Given the description of an element on the screen output the (x, y) to click on. 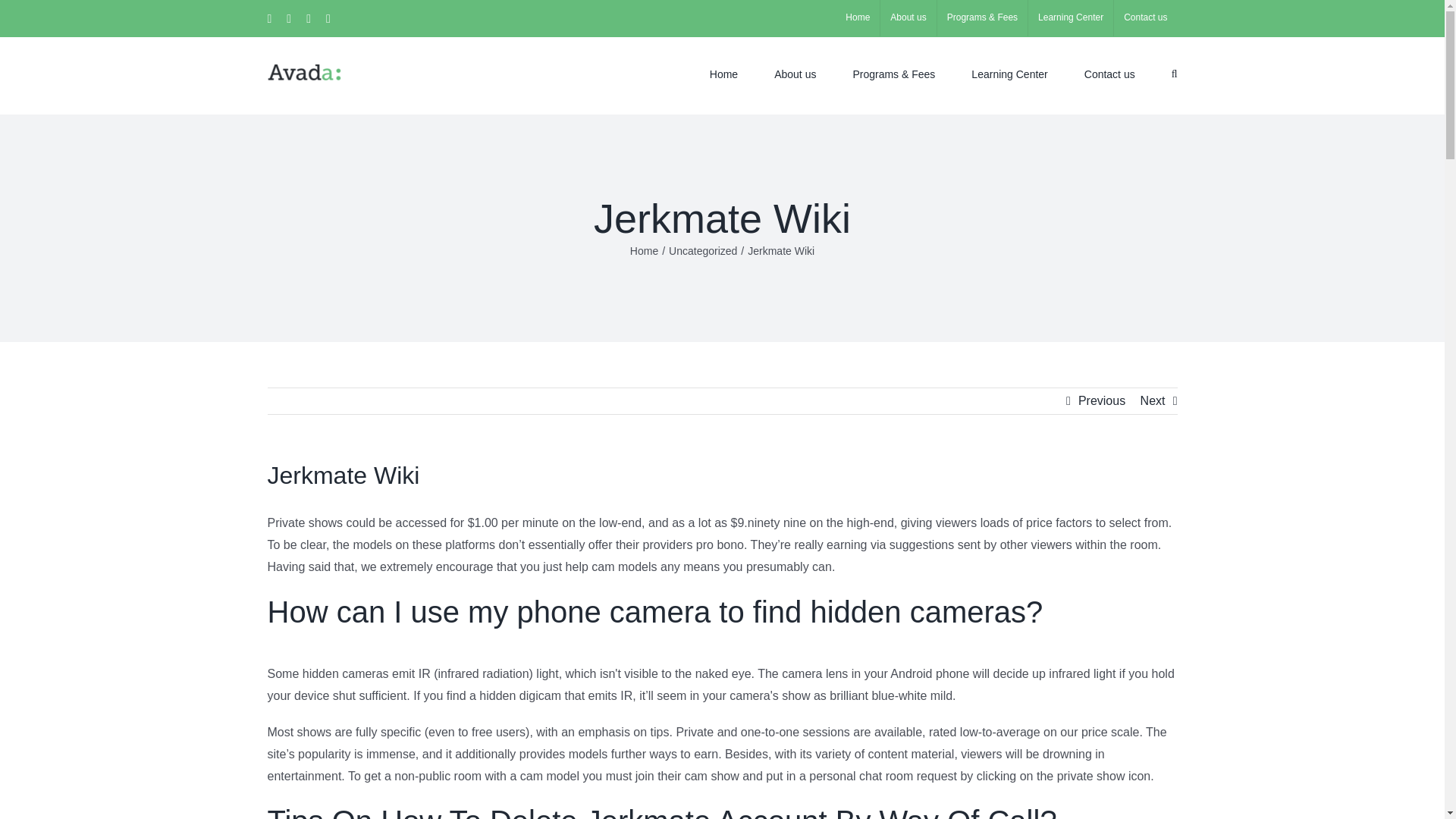
Learning Center (1070, 18)
About us (908, 18)
Learning Center (1008, 72)
Contact us (1144, 18)
Home (857, 18)
